Given the description of an element on the screen output the (x, y) to click on. 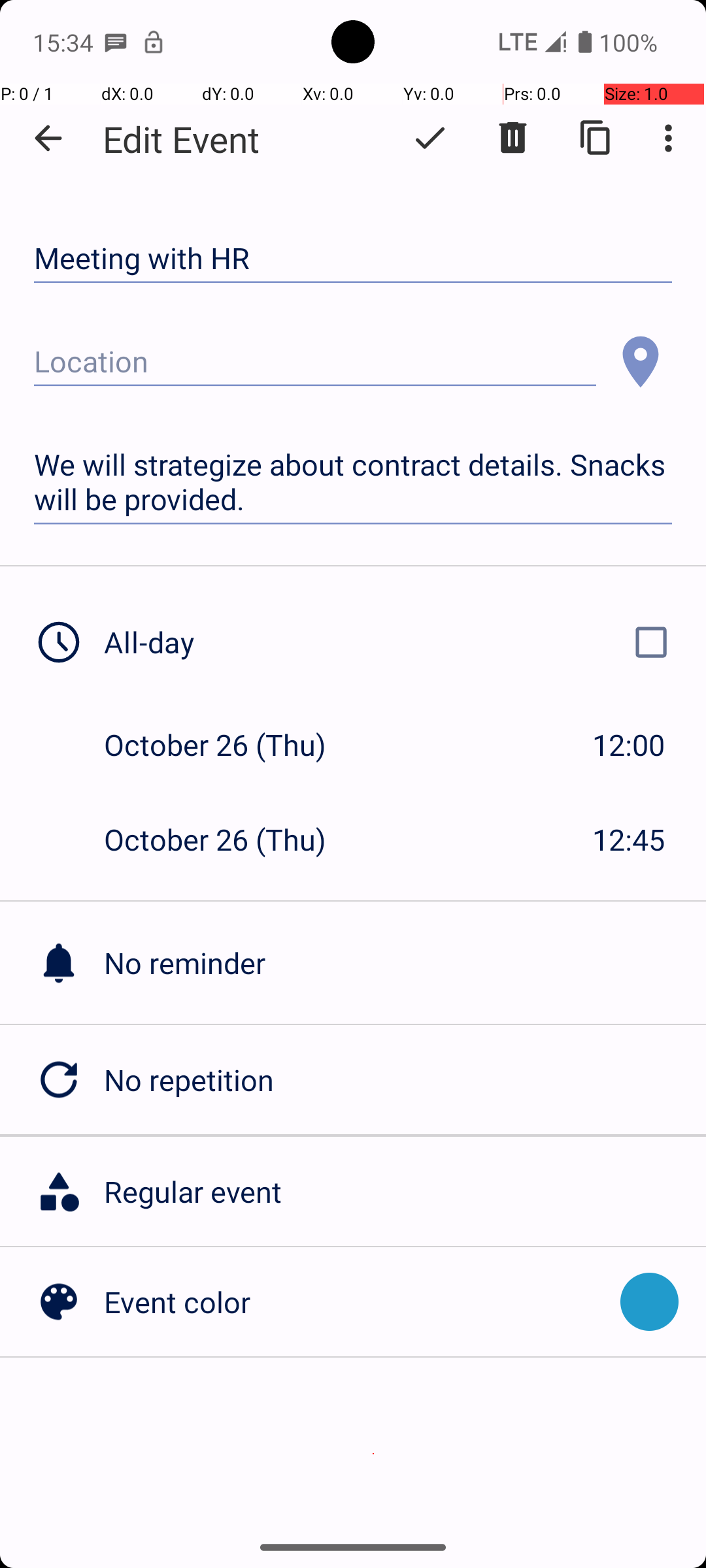
We will strategize about contract details. Snacks will be provided. Element type: android.widget.EditText (352, 482)
October 26 (Thu) Element type: android.widget.TextView (228, 744)
12:45 Element type: android.widget.TextView (628, 838)
